Given the description of an element on the screen output the (x, y) to click on. 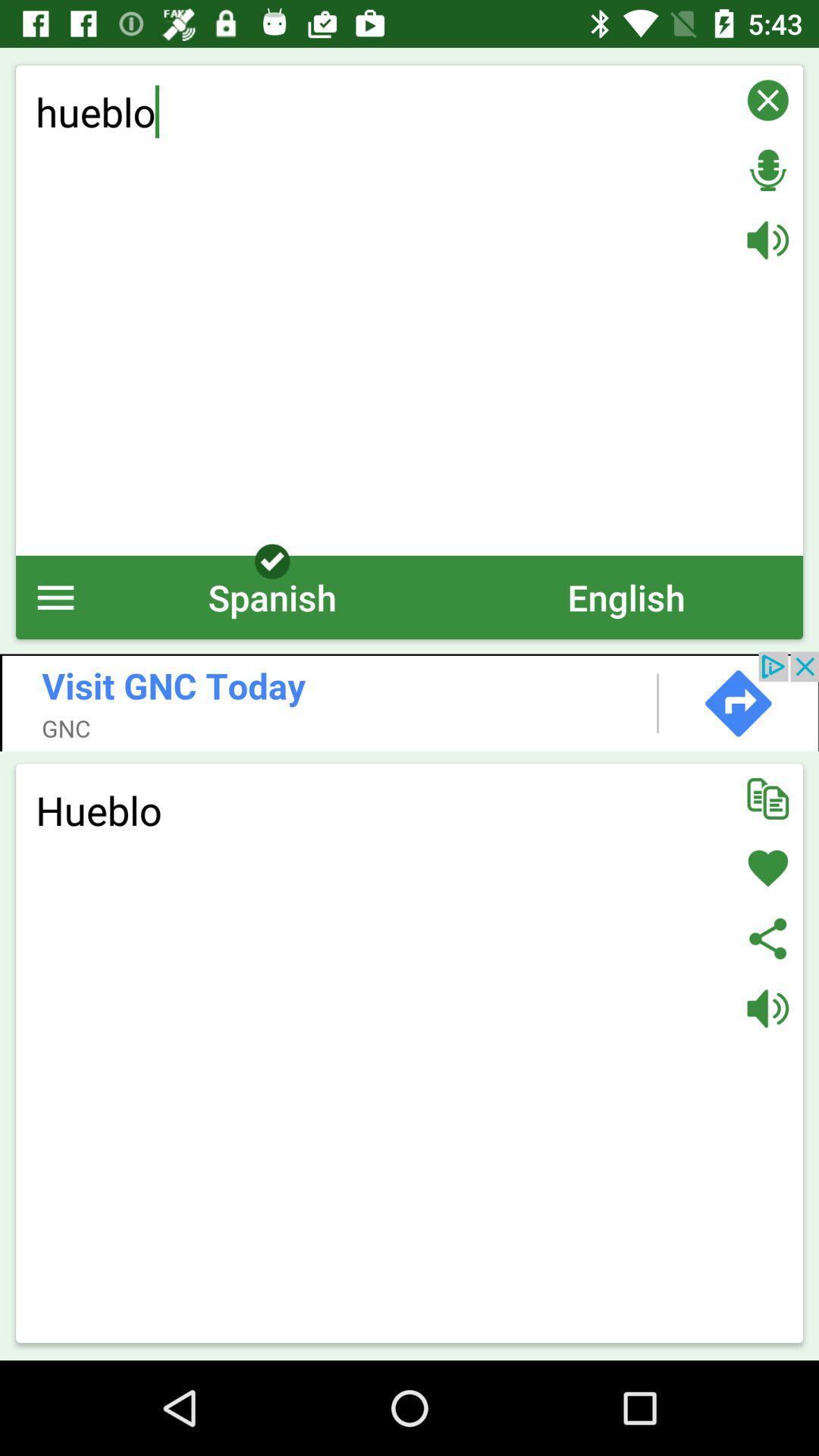
open add (409, 701)
